Given the description of an element on the screen output the (x, y) to click on. 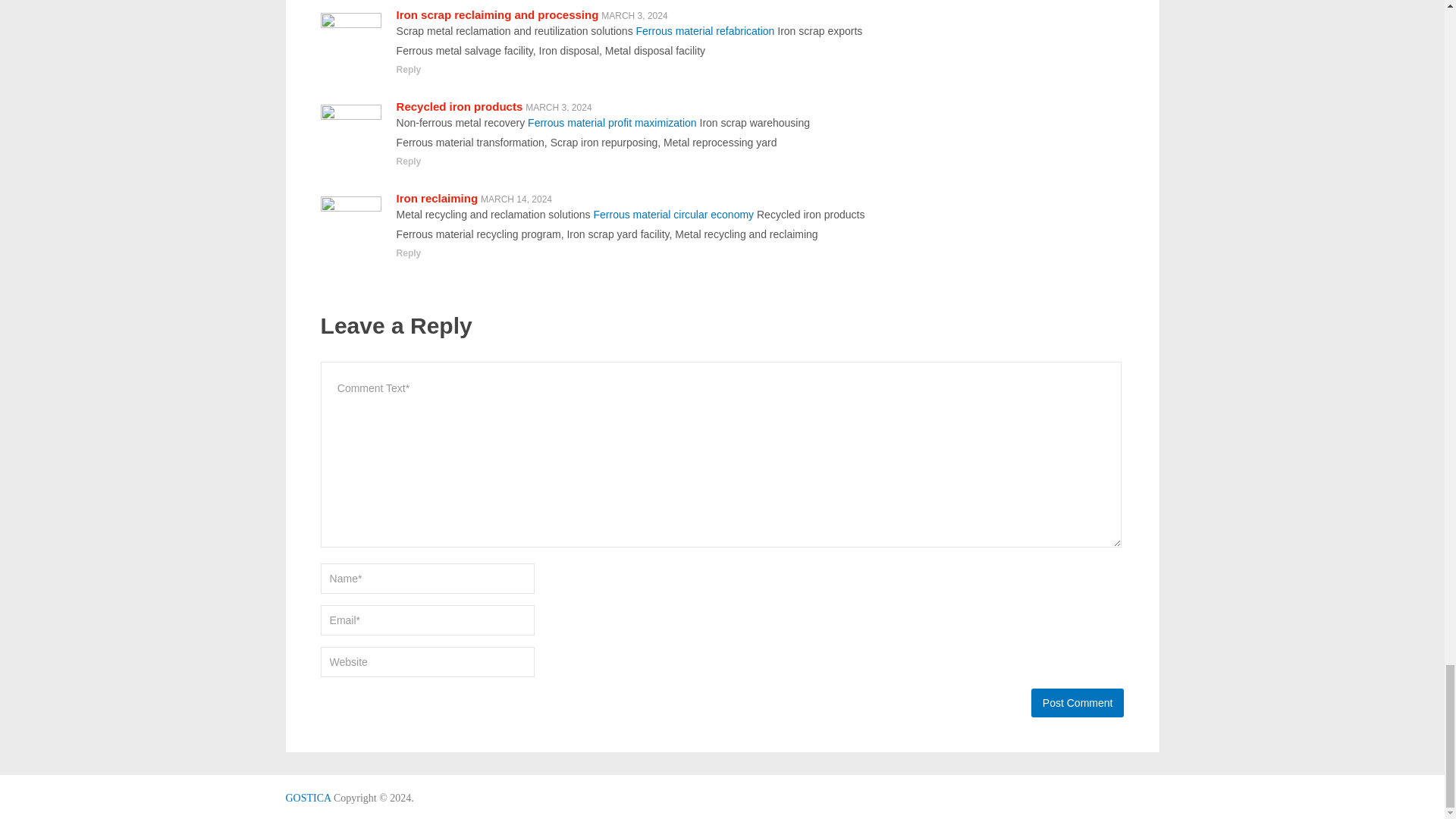
Post Comment (1077, 702)
 The Spiritual Path (307, 797)
Ferrous material refabrication (705, 30)
Ferrous material profit maximization (612, 122)
Ferrous material circular economy (673, 214)
